Given the description of an element on the screen output the (x, y) to click on. 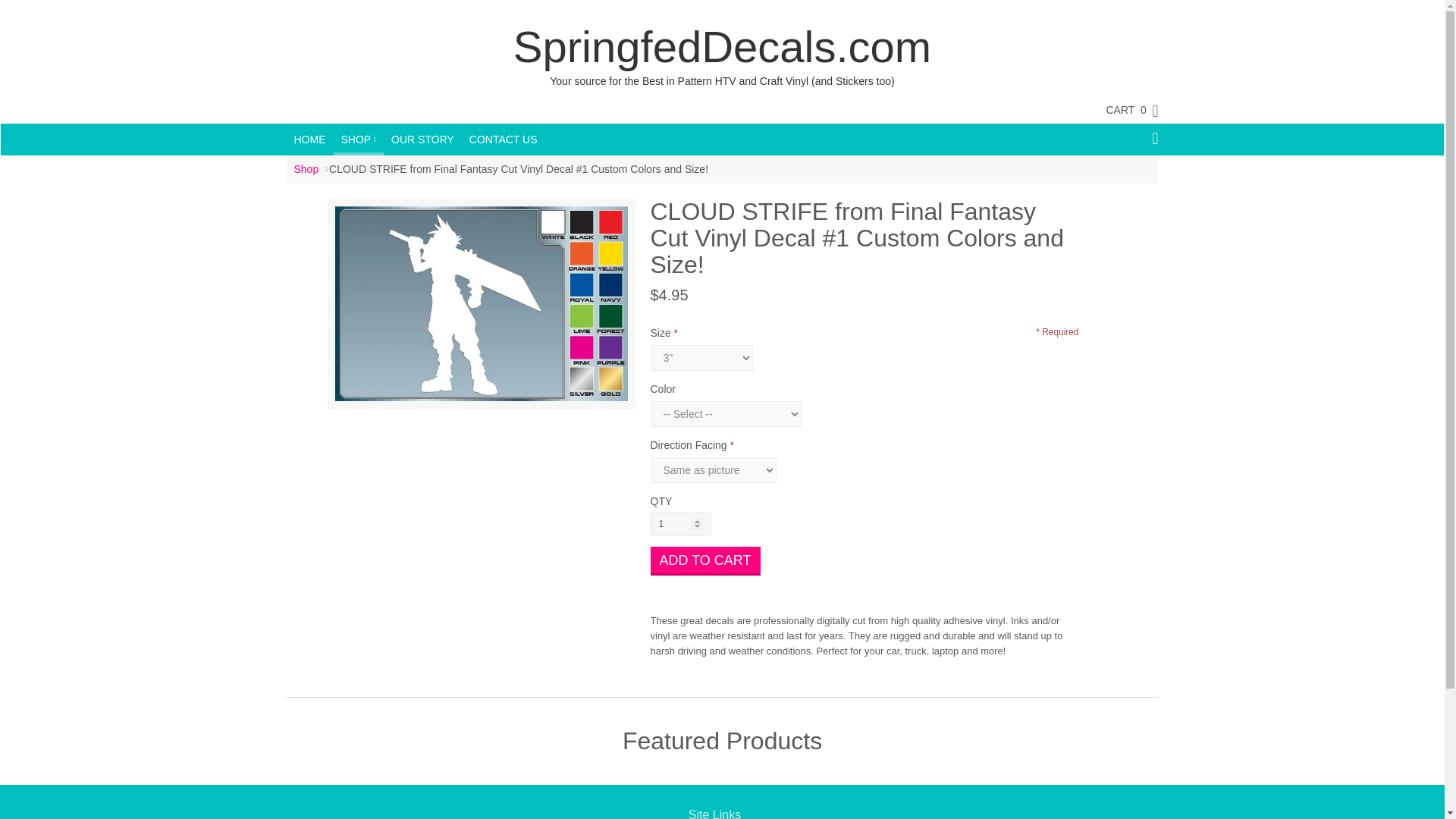
1 (680, 523)
SpringfedDecals.com (722, 46)
Add to Cart (705, 561)
CART  0   (1123, 109)
HOME (309, 139)
SHOP (358, 137)
